Given the description of an element on the screen output the (x, y) to click on. 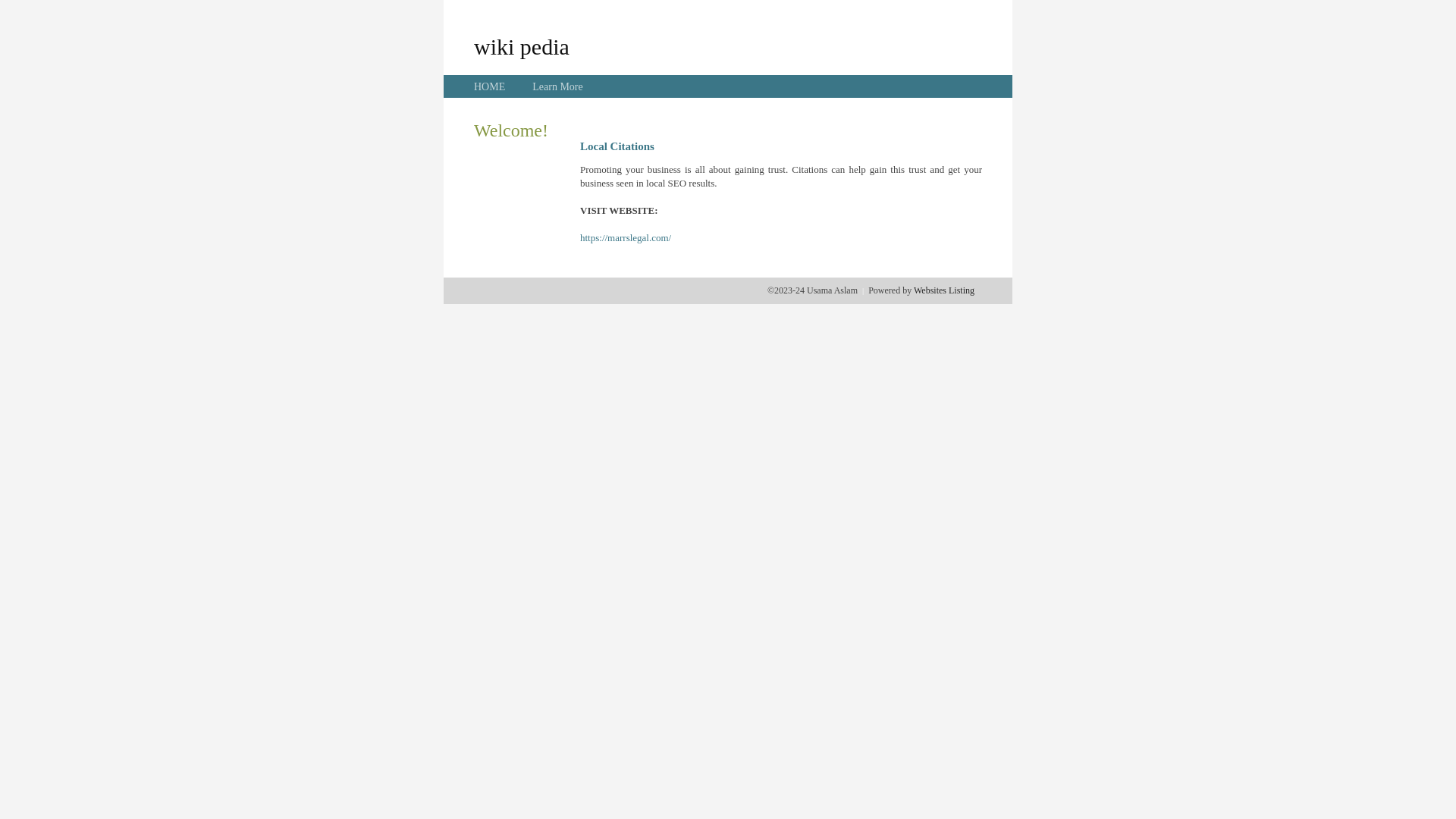
Websites Listing Element type: text (943, 290)
Learn More Element type: text (557, 86)
HOME Element type: text (489, 86)
https://marrslegal.com/ Element type: text (625, 237)
wiki pedia Element type: text (521, 46)
